Given the description of an element on the screen output the (x, y) to click on. 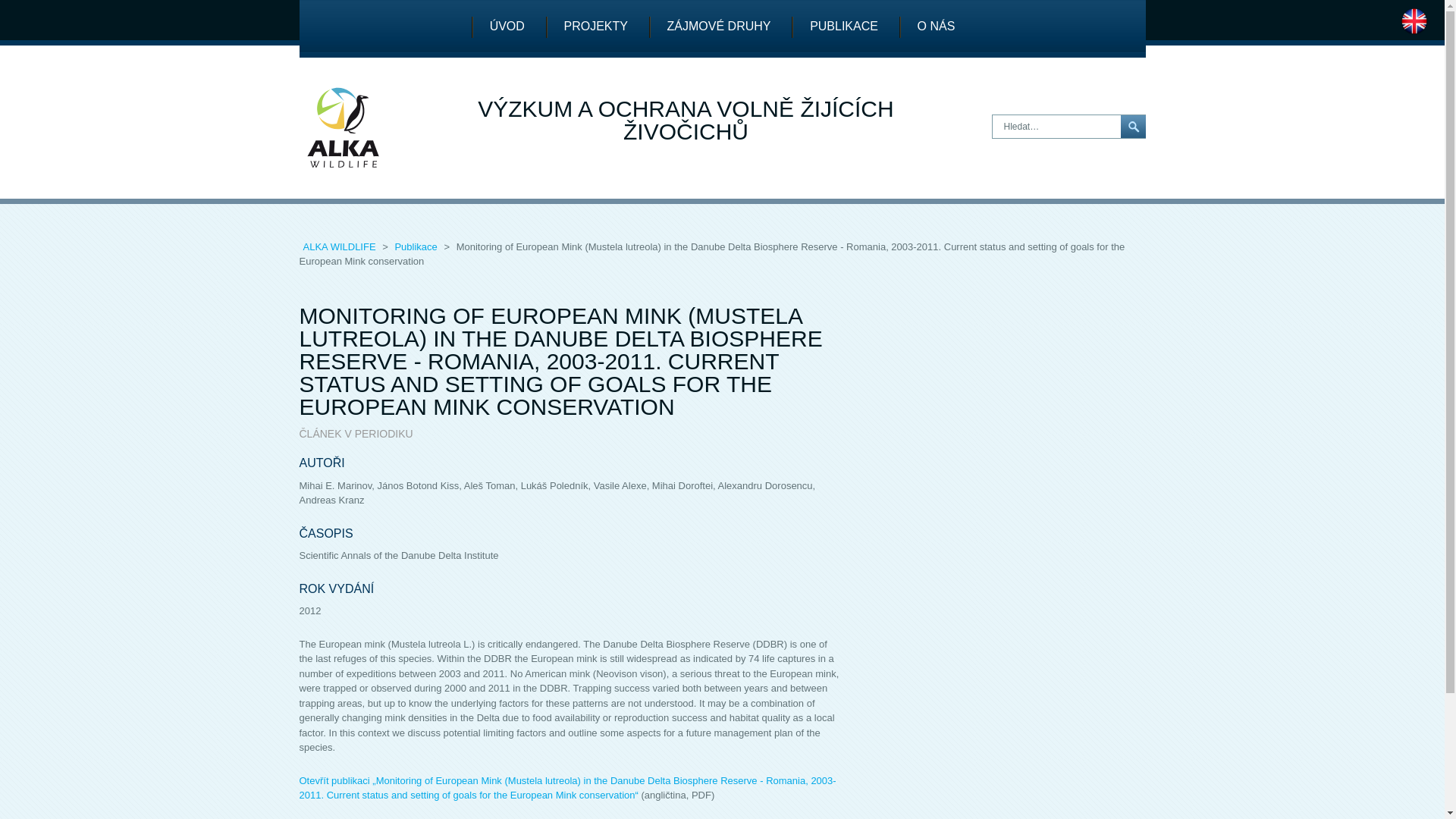
PROJEKTY (596, 26)
Search (1133, 126)
PUBLIKACE (844, 26)
Publikace (417, 246)
ALKA WILDLIFE (339, 246)
Search (1133, 126)
